Given the description of an element on the screen output the (x, y) to click on. 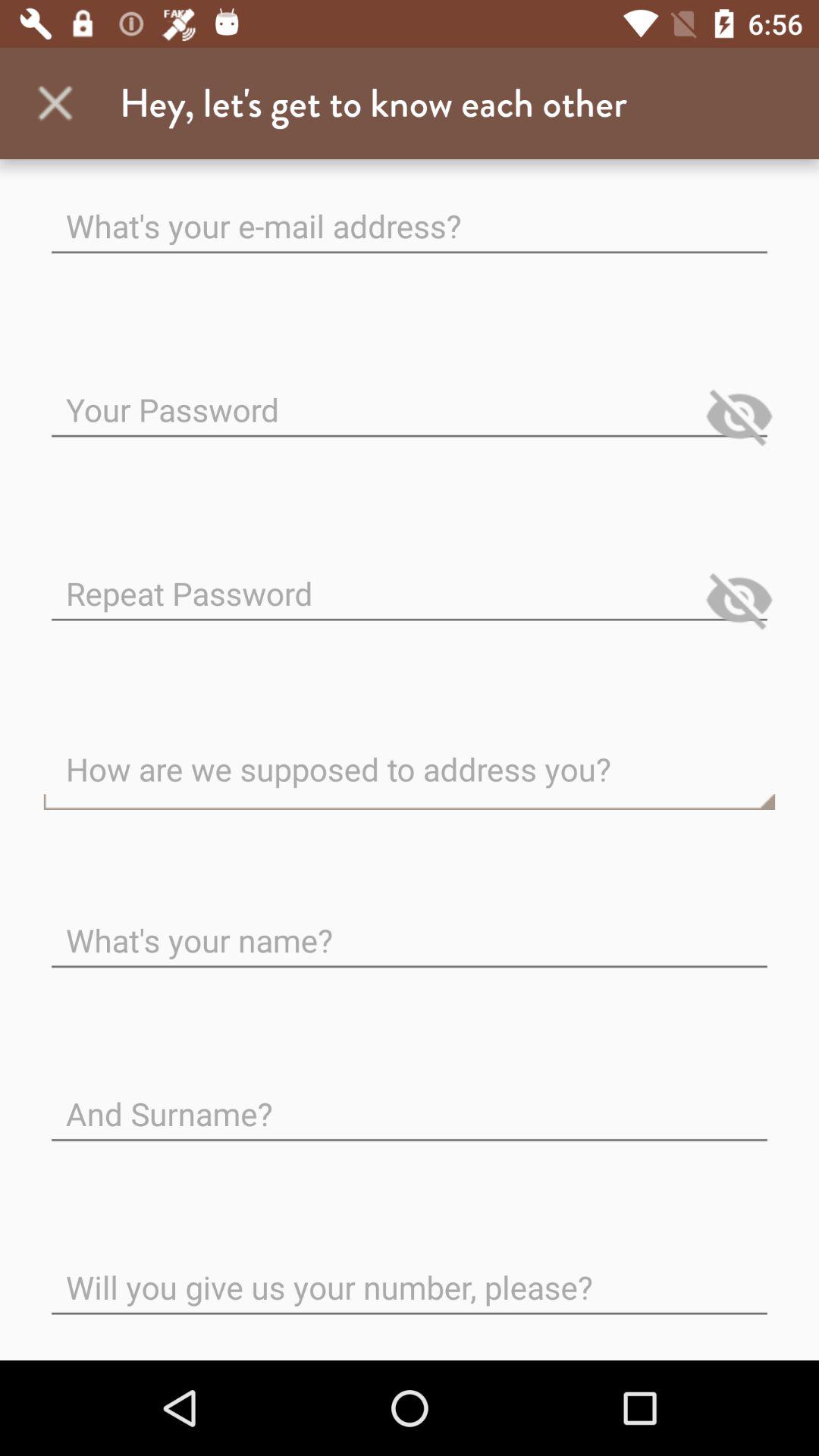
select the option which is below email address (409, 397)
select third row text which reads repeat password (409, 581)
select the first text field (409, 213)
option below surname option (409, 1275)
click on the surname icon (409, 1101)
select second no seen icon (738, 599)
go to the text whats your name (409, 928)
